Given the description of an element on the screen output the (x, y) to click on. 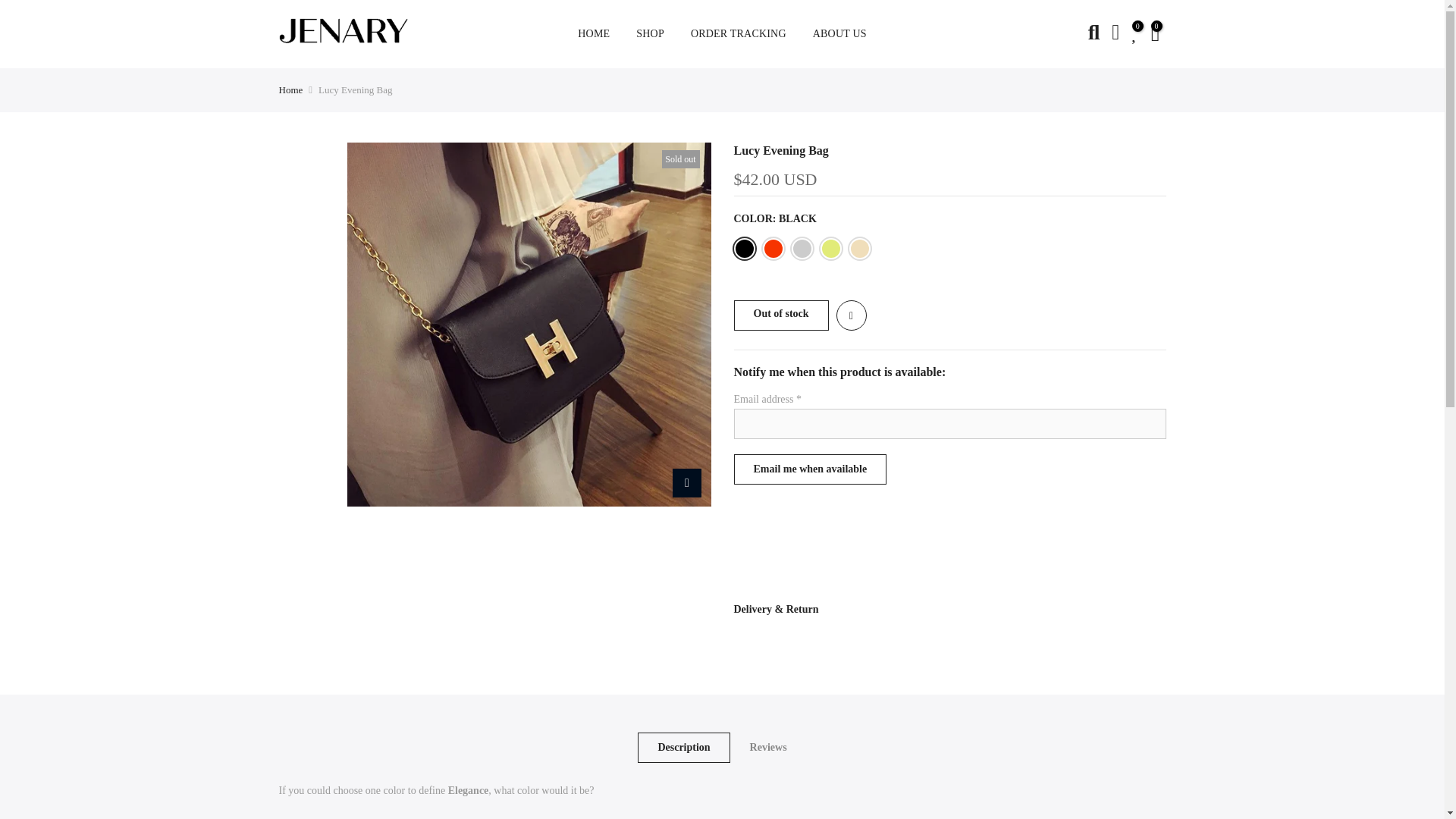
Home (290, 89)
Out of stock (780, 315)
Reviews (768, 747)
ABOUT US (839, 33)
Email me when available (809, 469)
ORDER TRACKING (738, 33)
Description (683, 747)
Email me when available (809, 469)
